Given the description of an element on the screen output the (x, y) to click on. 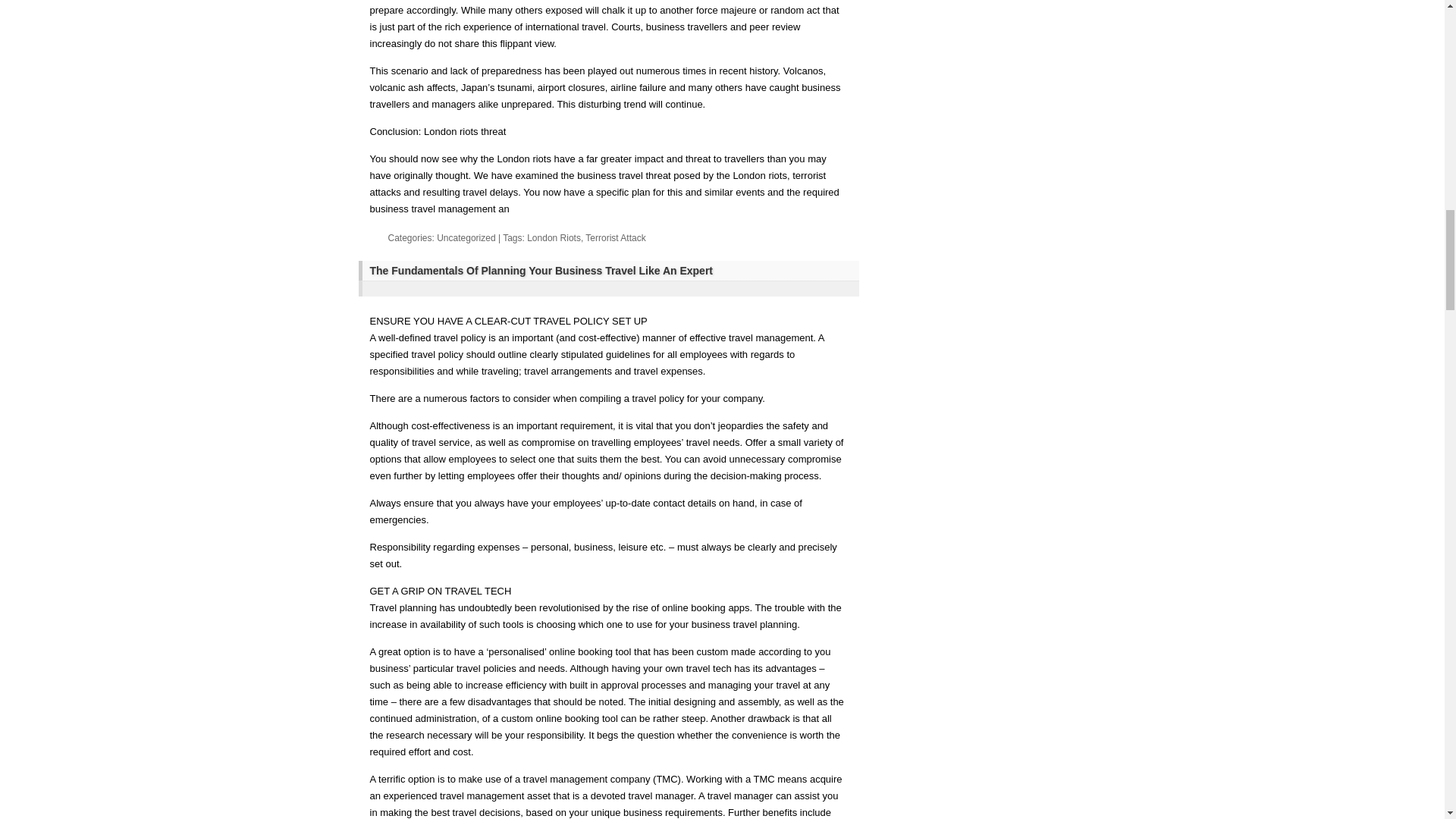
Terrorist Attack (615, 237)
Uncategorized (465, 237)
London Riots (553, 237)
View all posts in Uncategorized (465, 237)
